Given the description of an element on the screen output the (x, y) to click on. 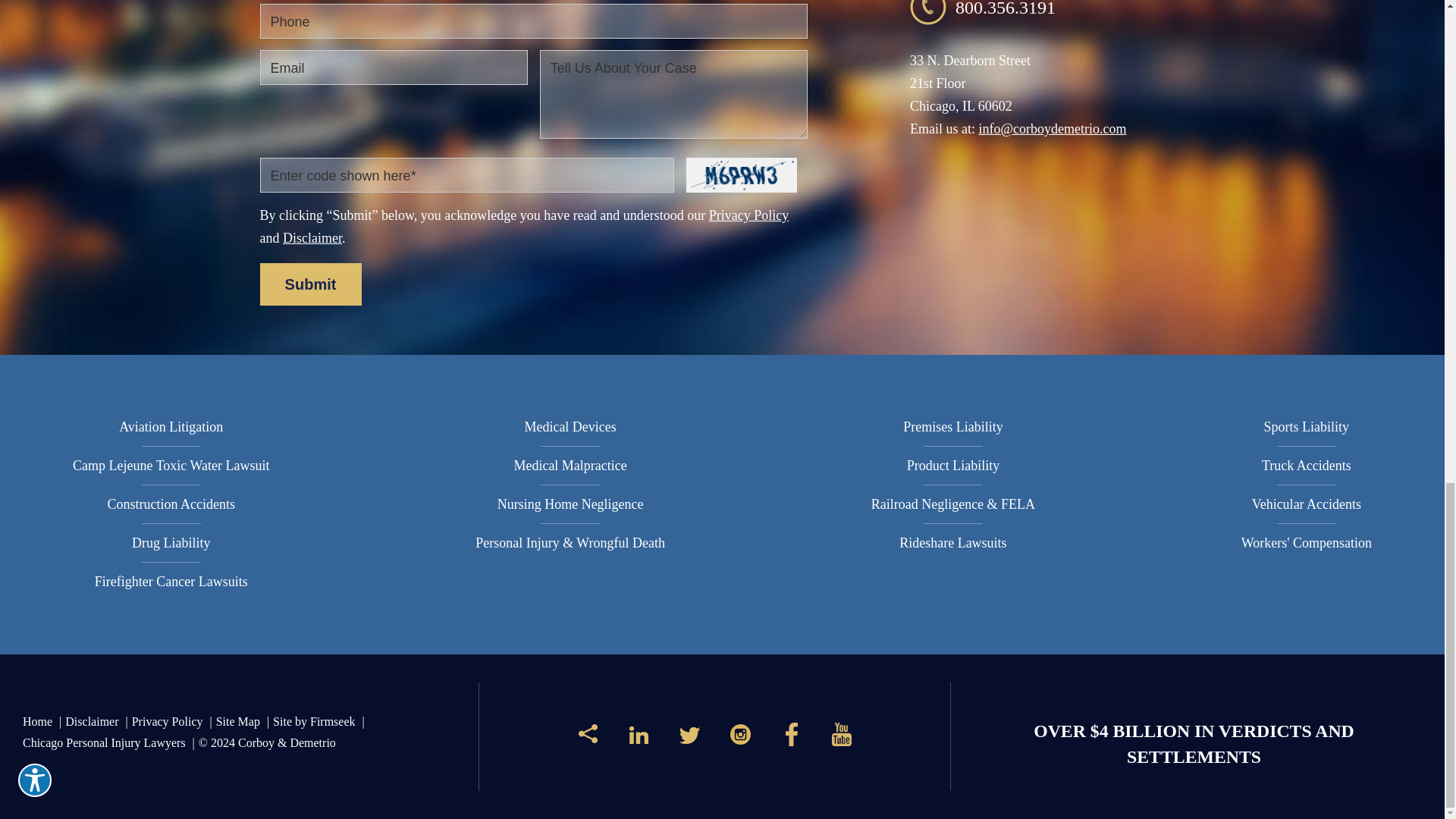
LinkedIn (638, 740)
Twitter (689, 740)
Facebook (791, 740)
Instagram (740, 740)
YouTube (841, 740)
Submit (310, 283)
Share (588, 739)
